Given the description of an element on the screen output the (x, y) to click on. 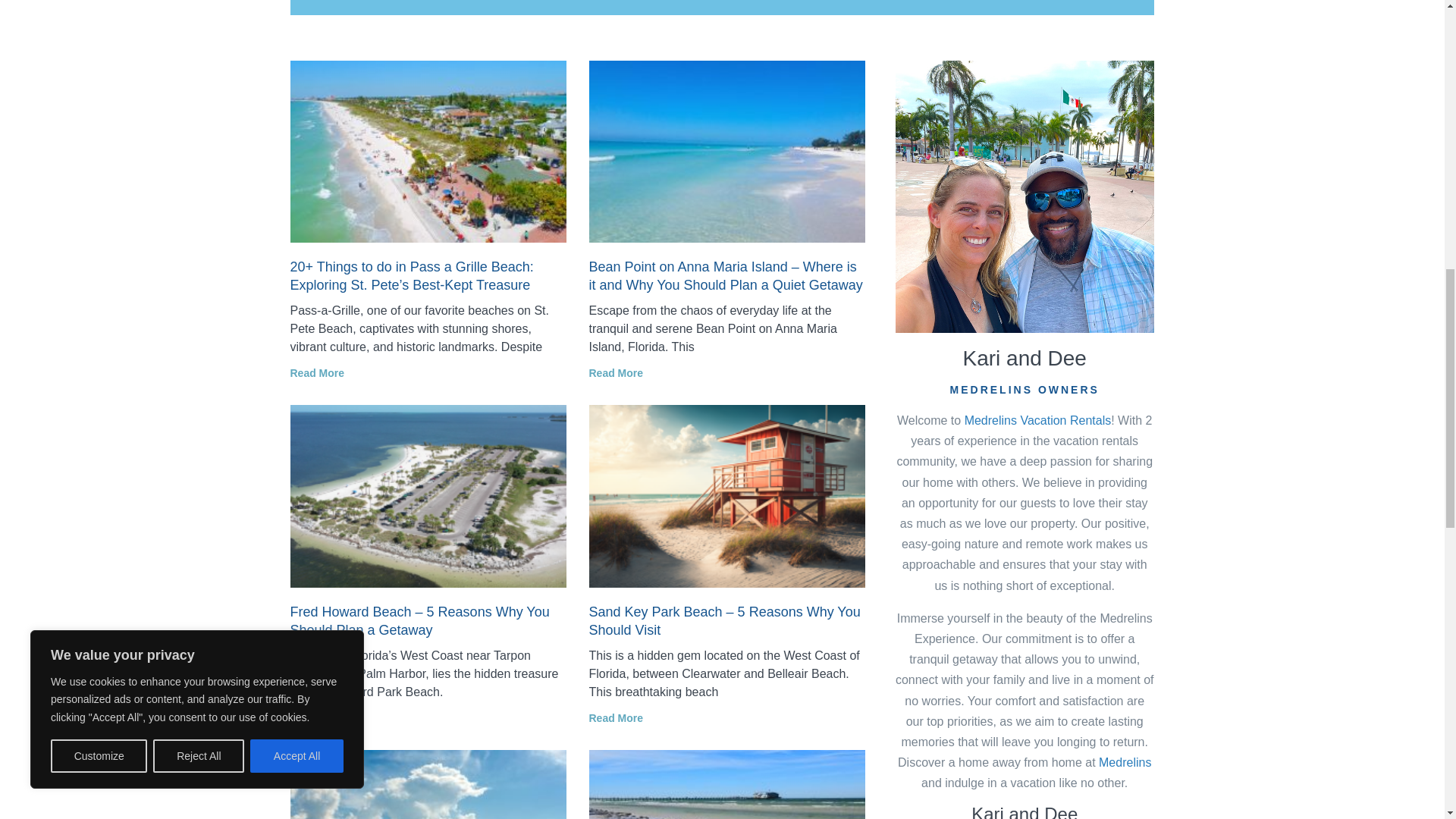
Read More (615, 372)
Read More (316, 372)
